Given the description of an element on the screen output the (x, y) to click on. 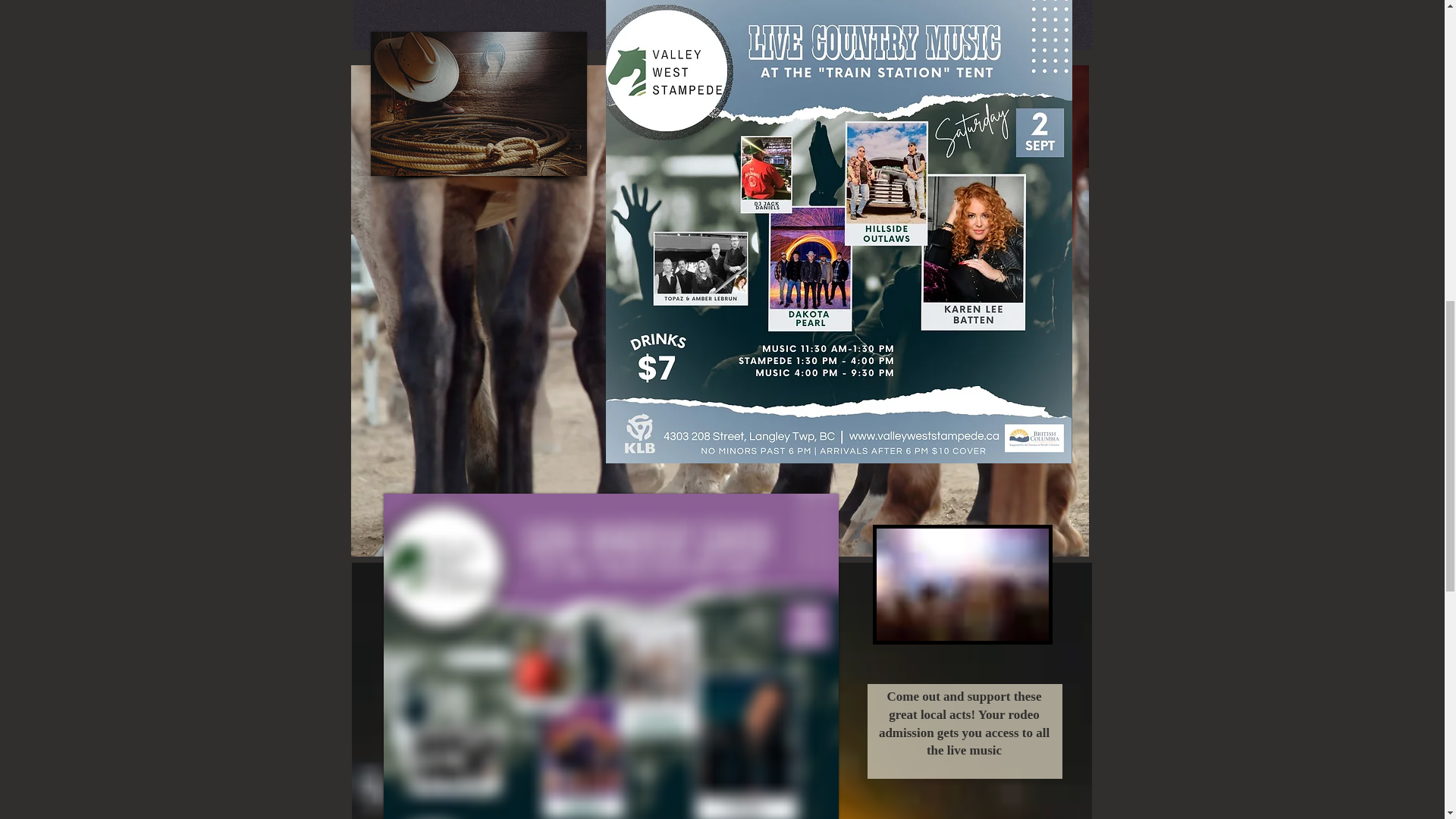
Concert (961, 584)
Concert (723, 24)
